Given the description of an element on the screen output the (x, y) to click on. 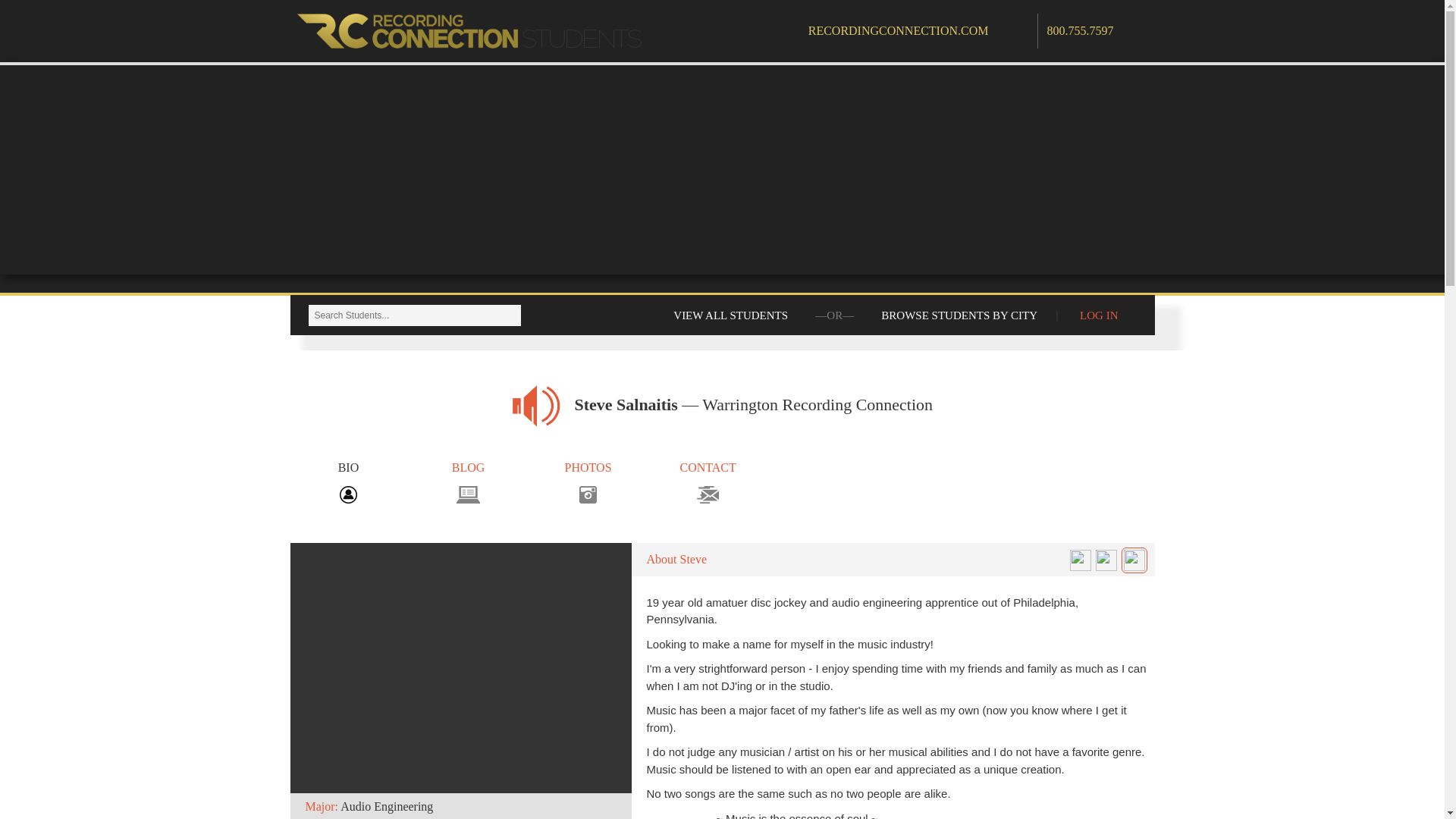
BIO (347, 480)
BROWSE STUDENTS BY CITY (959, 315)
LOG IN (1098, 315)
CONTACT (708, 480)
PHOTOS (587, 480)
Steve Salnaitis's Website (1134, 560)
800.755.7597 (1079, 30)
Steve Salnaitis on Twitter (1079, 559)
Major: Audio Engineering (459, 680)
VIEW ALL STUDENTS (730, 315)
